Given the description of an element on the screen output the (x, y) to click on. 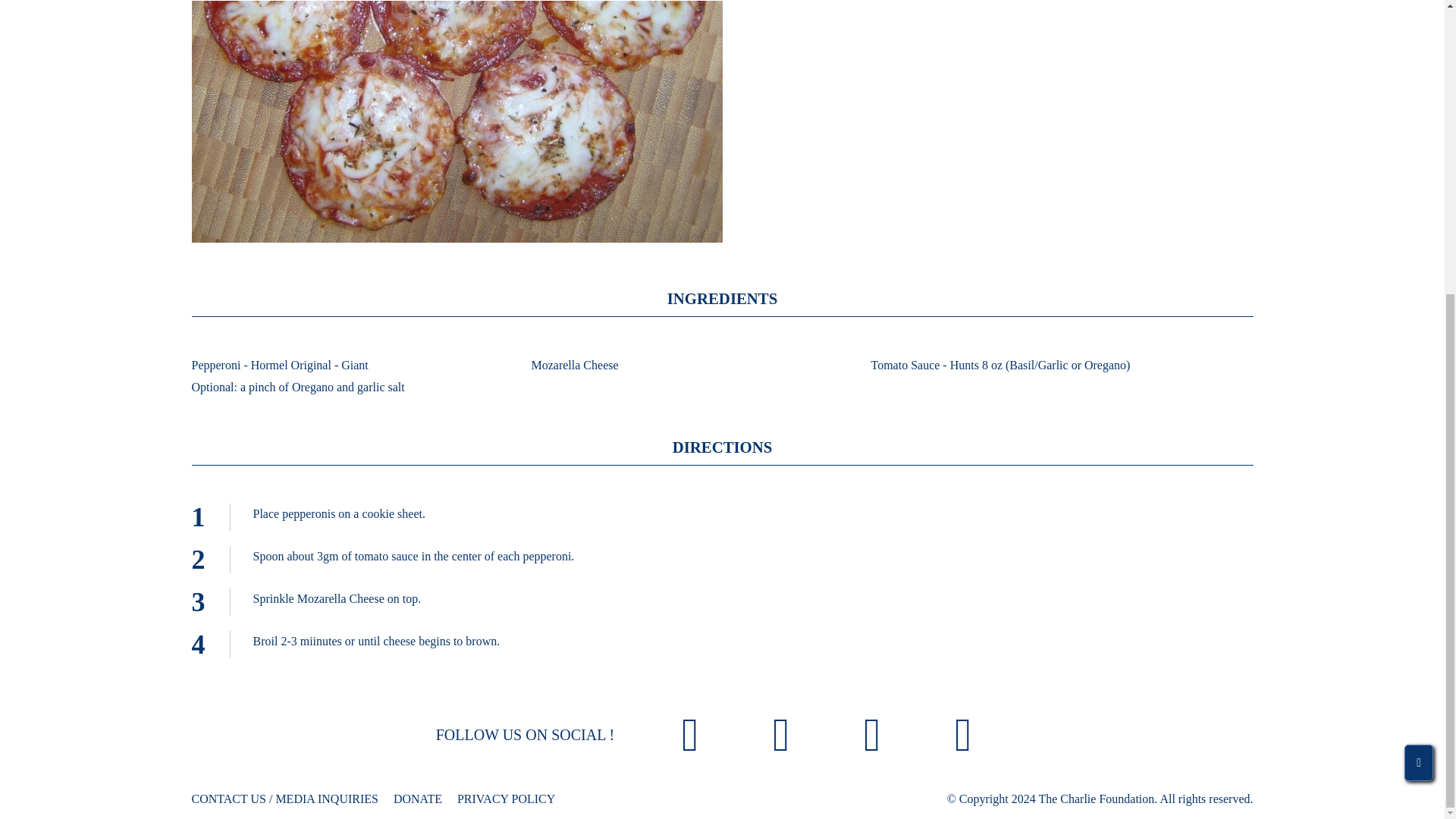
YouTube (962, 737)
Facebook (689, 737)
Instagram (780, 737)
Twitter (871, 737)
PRIVACY POLICY (505, 798)
DONATE (417, 798)
